Given the description of an element on the screen output the (x, y) to click on. 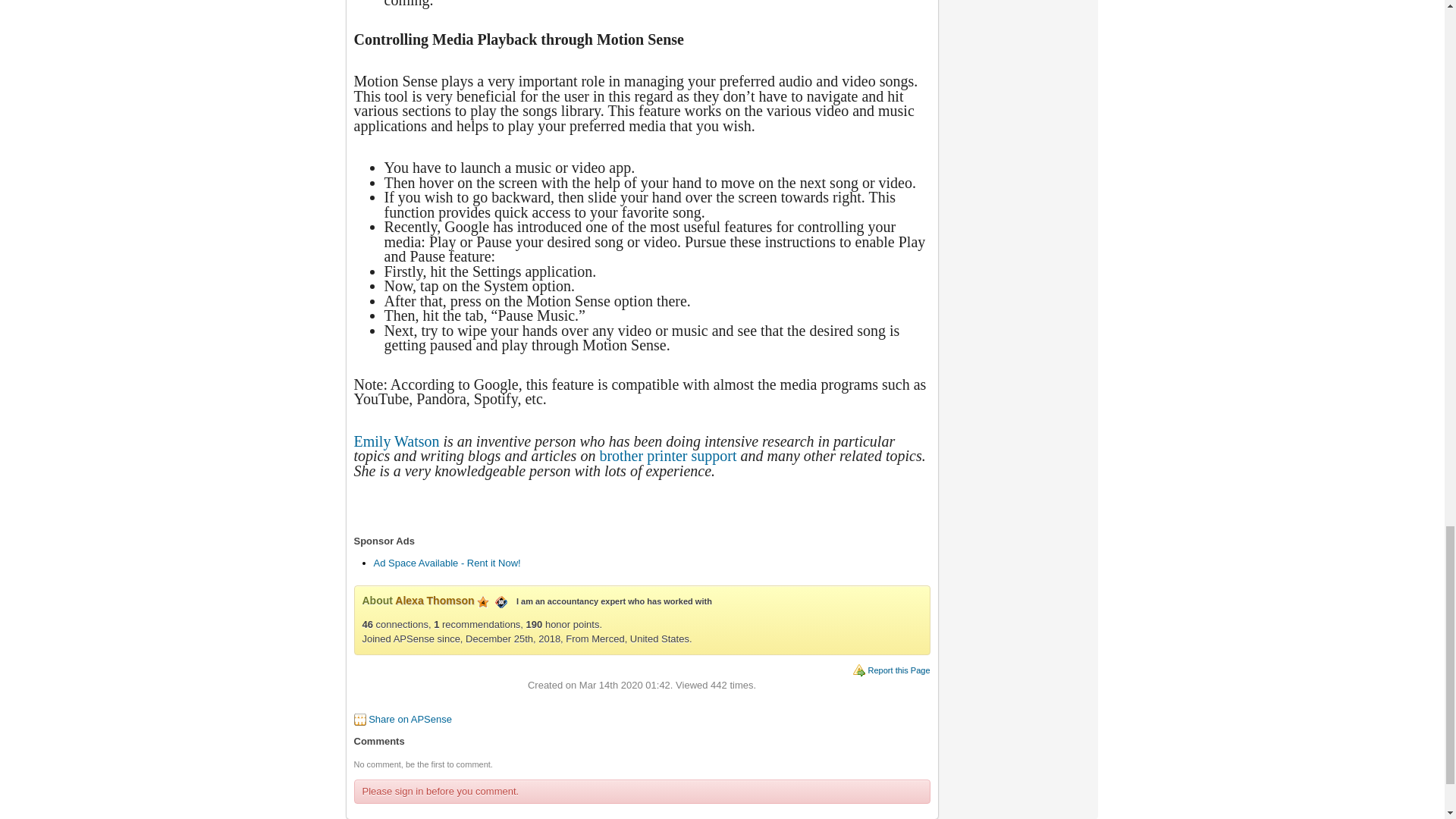
Share on APSense (409, 718)
Advanced (483, 602)
Ad Space Available - Rent it Now! (445, 562)
Emily Watson (396, 441)
View Business Center (500, 600)
brother printer support (667, 455)
Share on APSense (409, 718)
Report this Page (898, 669)
Alexa Thomson (434, 600)
